Given the description of an element on the screen output the (x, y) to click on. 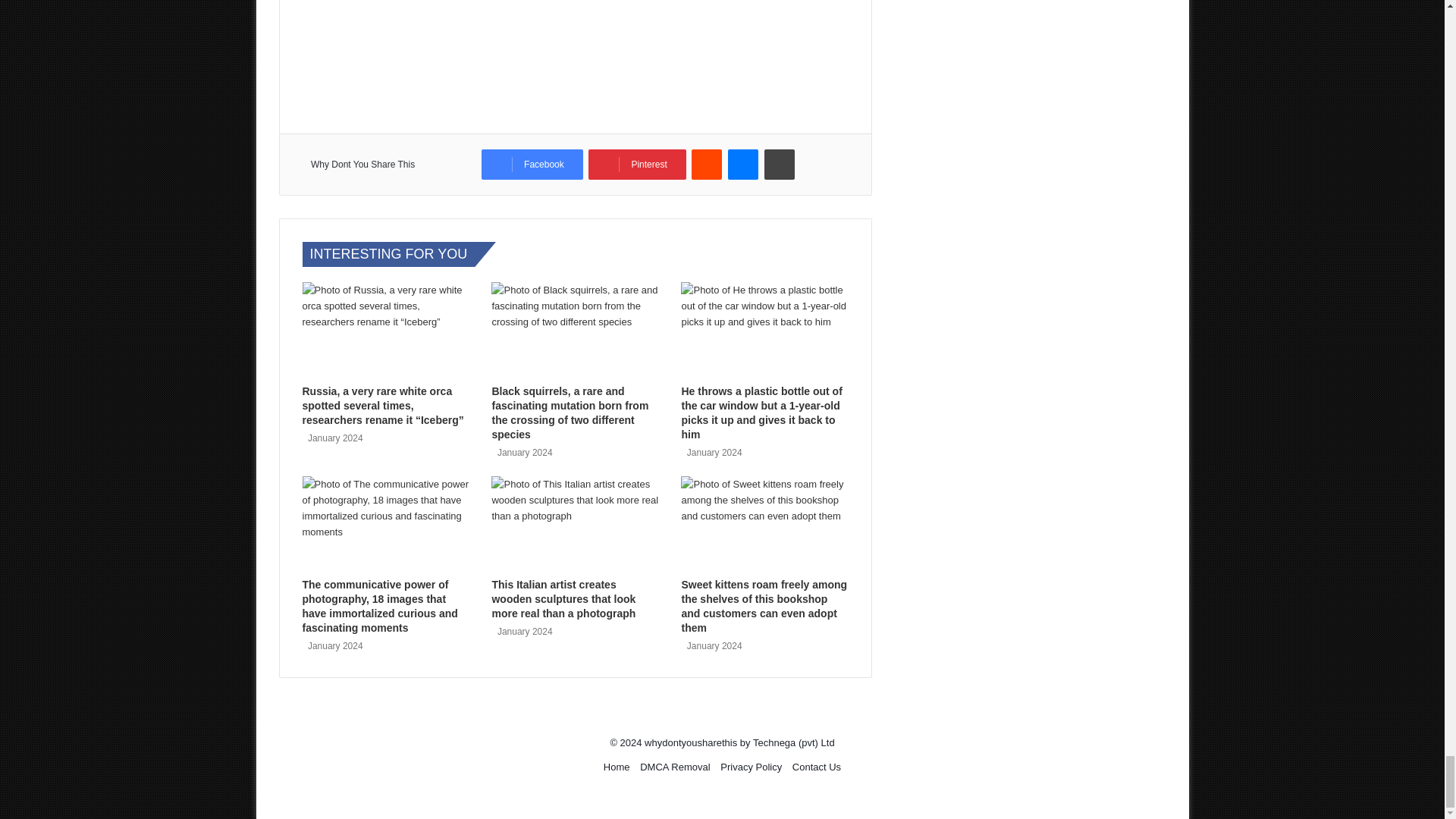
Pinterest (636, 164)
Reddit (706, 164)
Print (779, 164)
Pinterest (636, 164)
Facebook (532, 164)
Facebook (532, 164)
Reddit (706, 164)
Messenger (743, 164)
Messenger (743, 164)
